Given the description of an element on the screen output the (x, y) to click on. 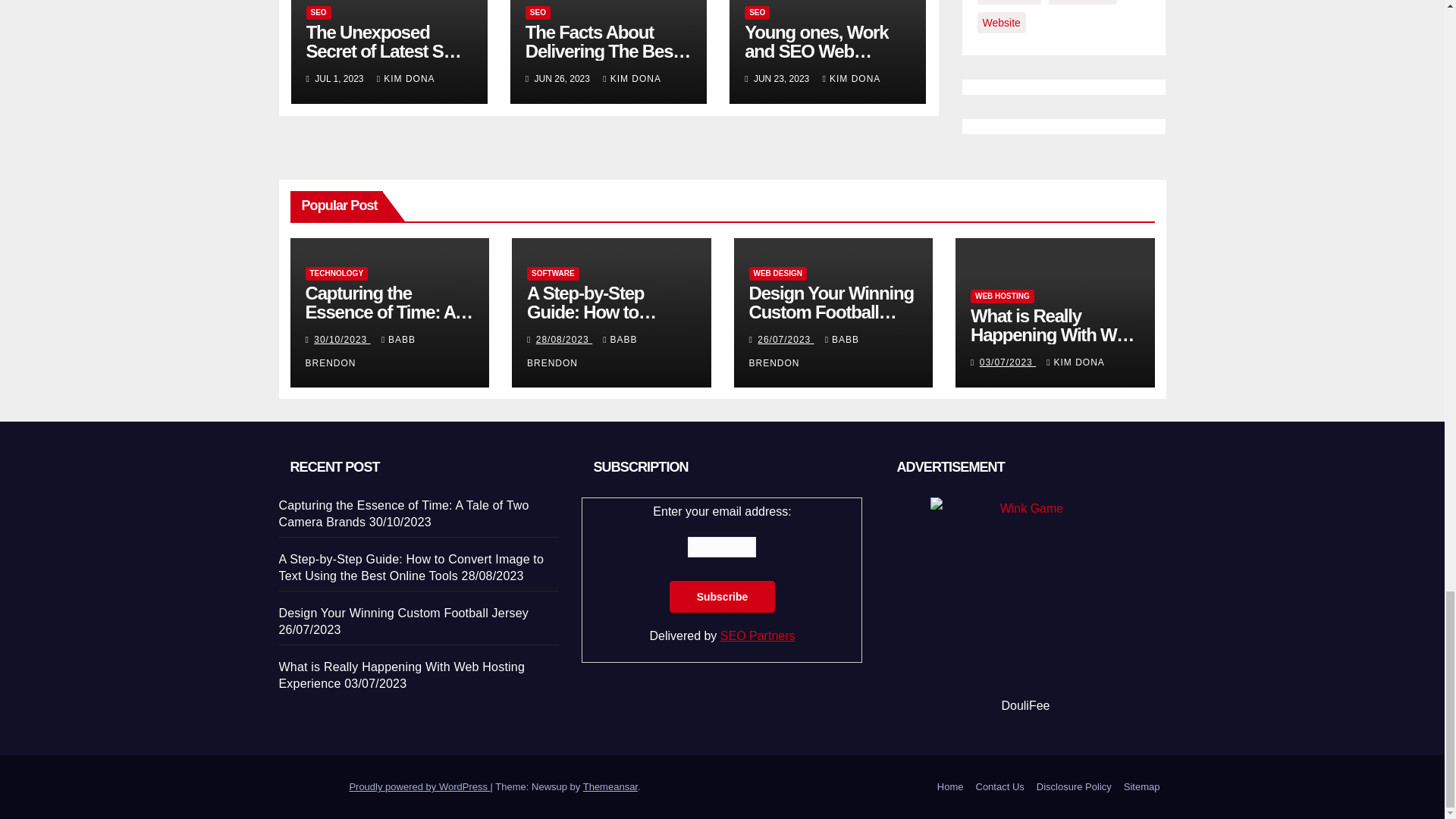
Permalink to: Design Your Winning Custom Football Jersey (831, 311)
Young ones, Work and SEO Web Design Templates (816, 51)
The Unexposed Secret of Latest SEO Web Design (386, 51)
Permalink to: The Unexposed Secret of Latest SEO Web Design (386, 51)
Permalink to: Young ones, Work and SEO Web Design Templates (816, 51)
SEO (318, 12)
KIM DONA (406, 78)
SEO (537, 12)
